Given the description of an element on the screen output the (x, y) to click on. 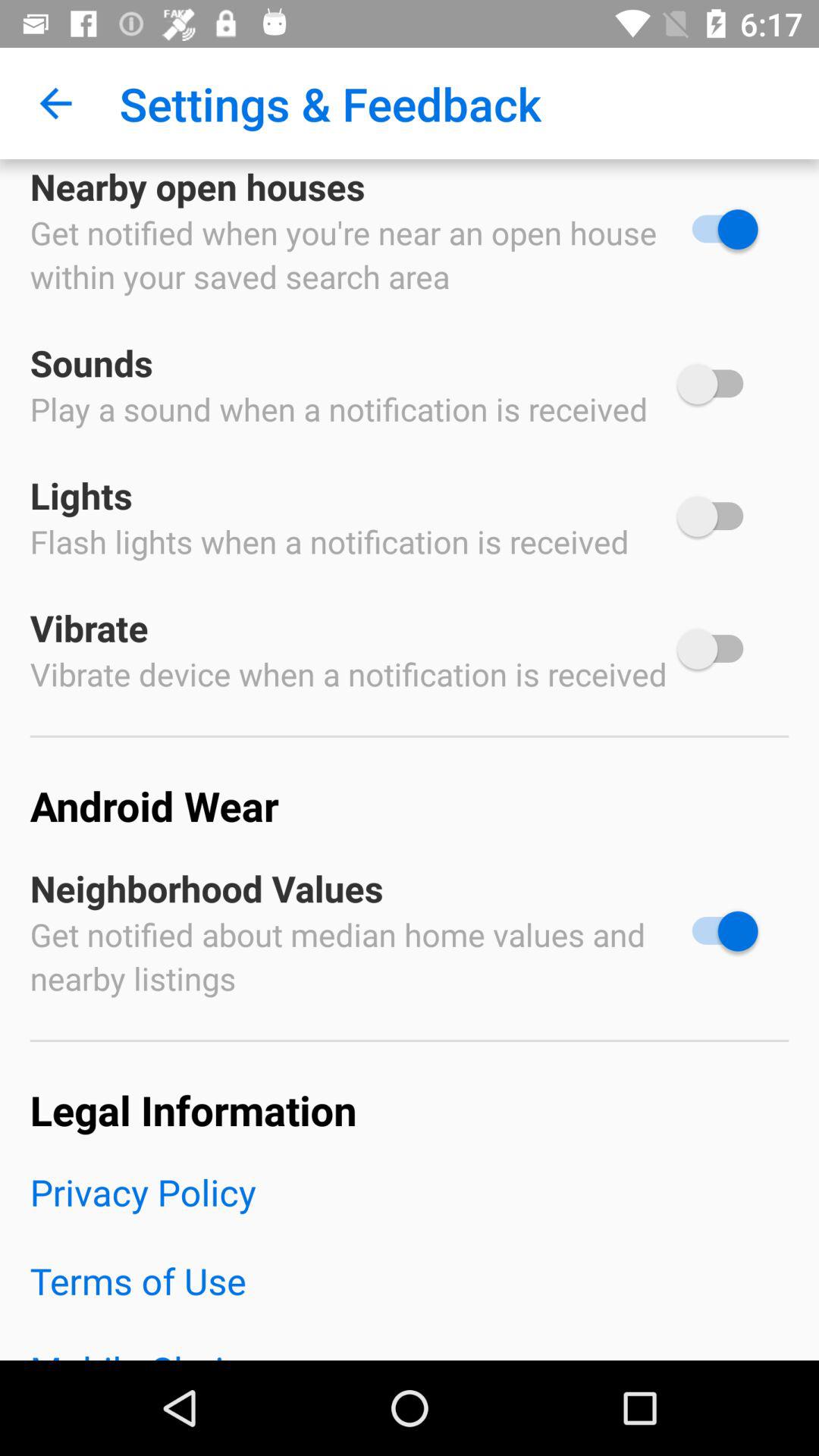
toggle neighborhood values (717, 931)
